Given the description of an element on the screen output the (x, y) to click on. 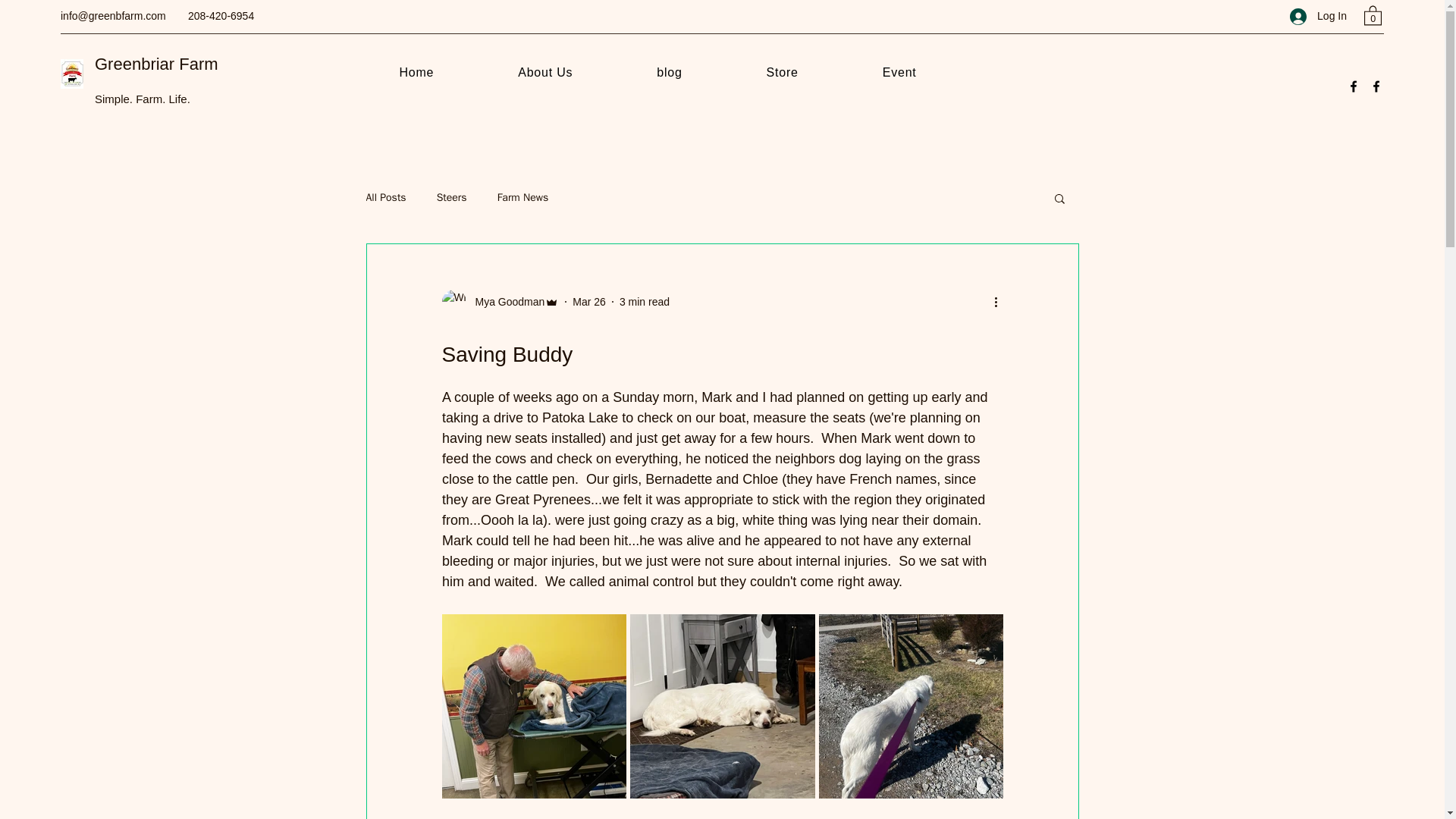
3 min read (644, 301)
Mar 26 (588, 301)
Farm News (522, 197)
blog (668, 72)
Event (899, 72)
About Us (545, 72)
Mya Goodman (500, 301)
All Posts (385, 197)
Greenbriar Farm (156, 63)
Mya Goodman (504, 302)
